Given the description of an element on the screen output the (x, y) to click on. 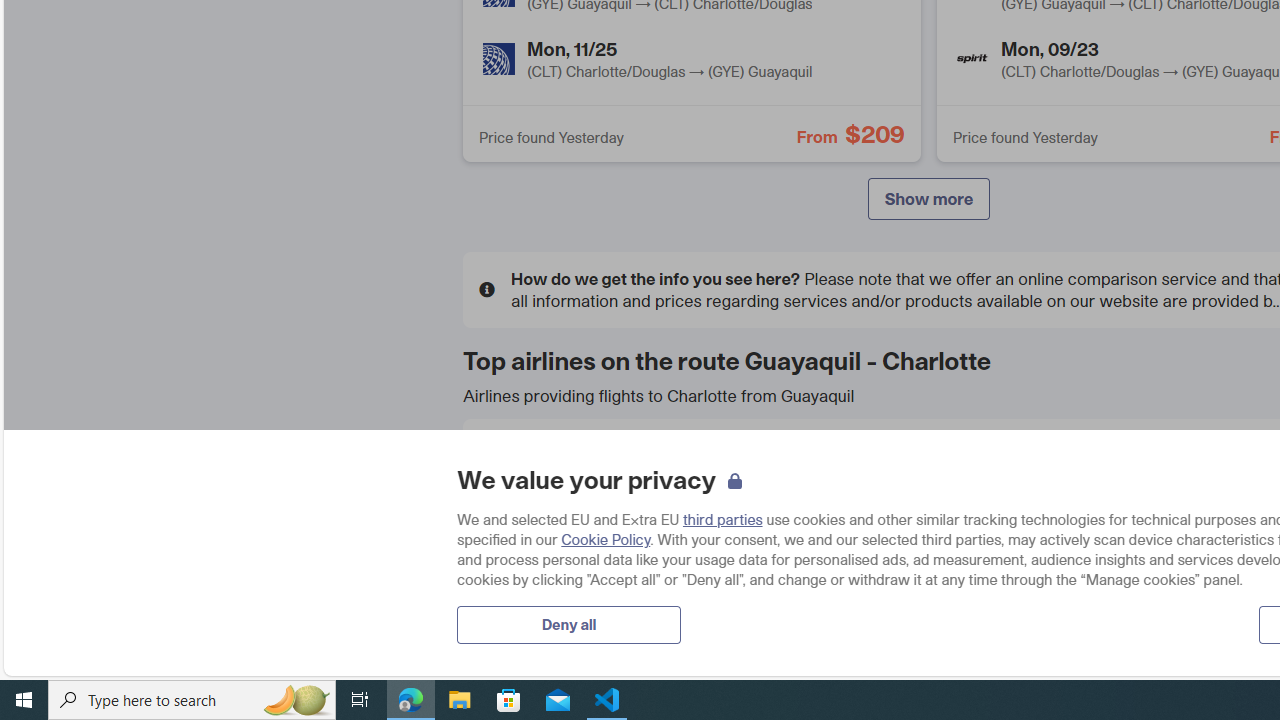
Avianca Avianca (928, 467)
United United (626, 611)
DELTA (511, 538)
